Given the description of an element on the screen output the (x, y) to click on. 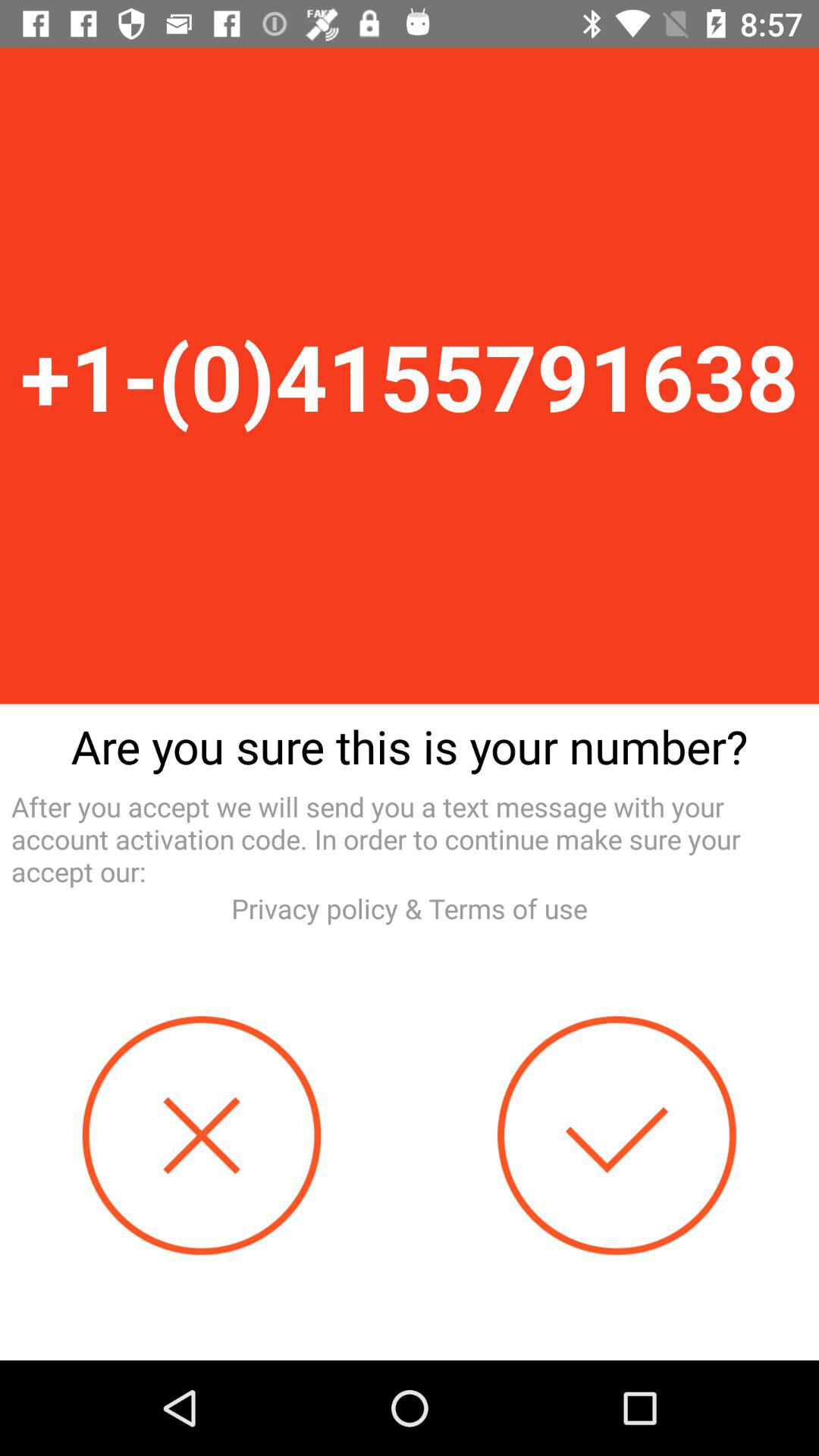
confirm number (616, 1135)
